Given the description of an element on the screen output the (x, y) to click on. 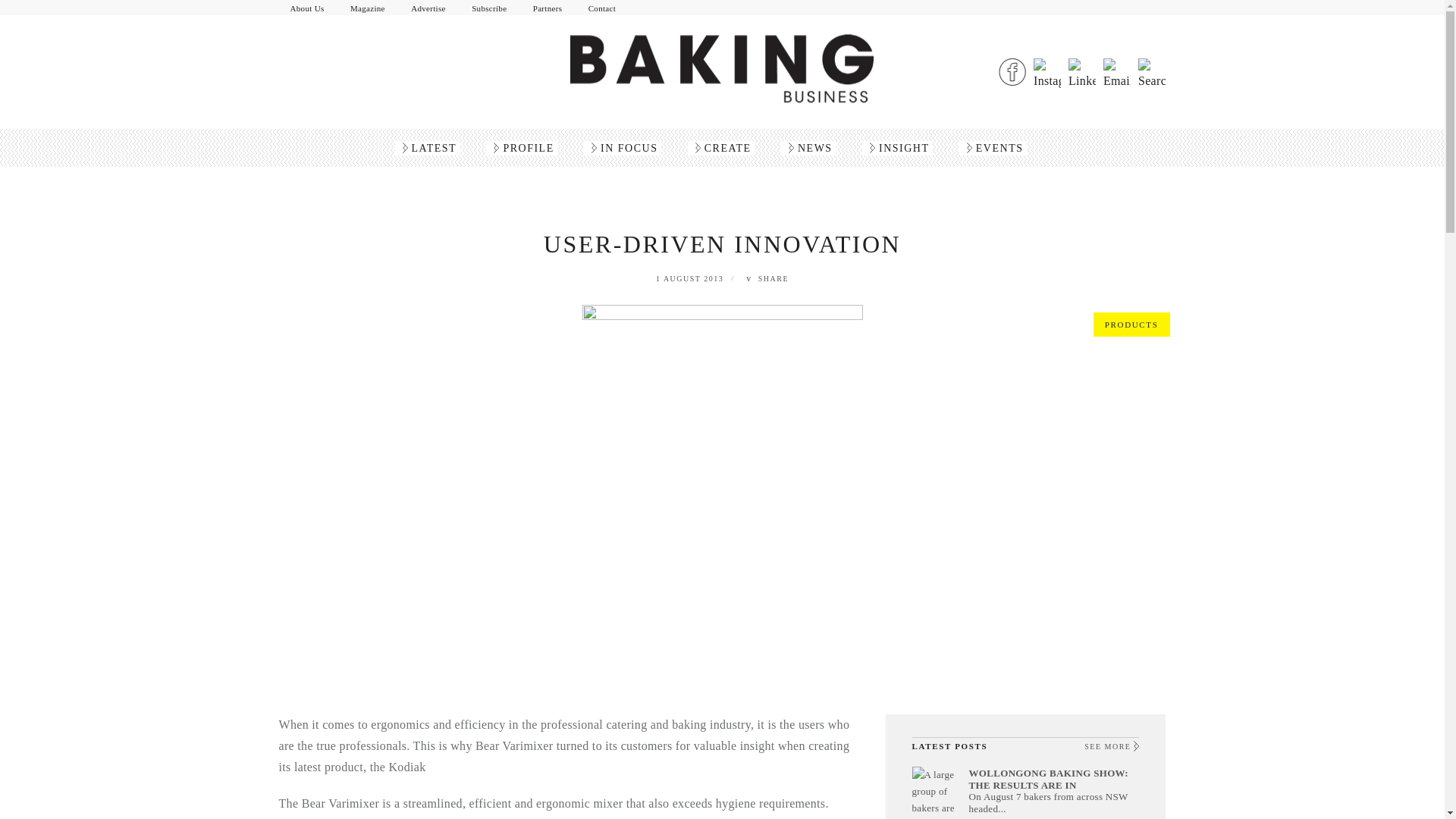
Email (1117, 71)
Linkedin (1082, 71)
Contact (602, 8)
Facebook (1012, 71)
Magazine (367, 8)
Subscribe (489, 8)
About Us (307, 8)
Advertise (428, 8)
Instagram (1047, 71)
Partners (547, 8)
